Given the description of an element on the screen output the (x, y) to click on. 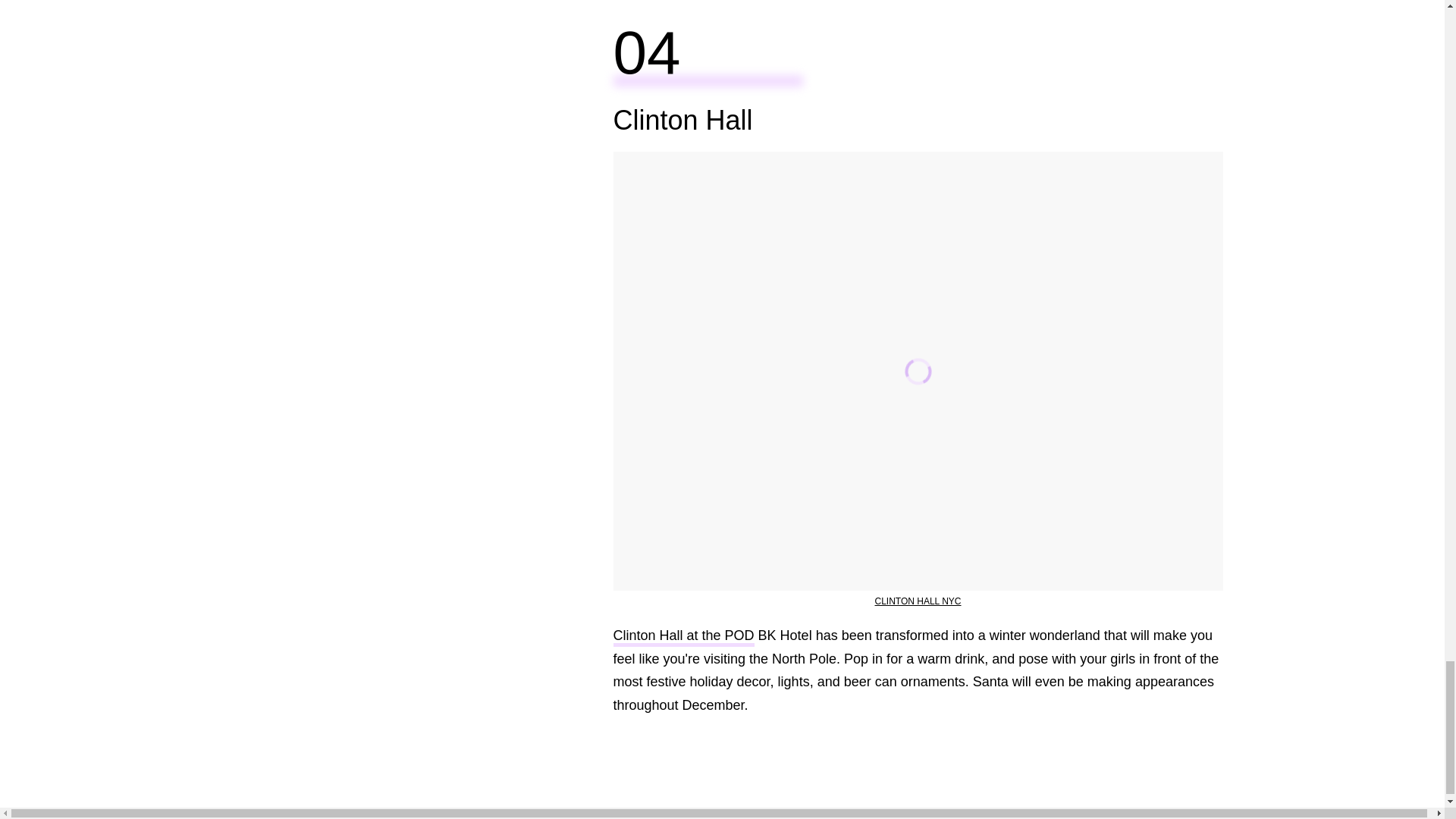
Clinton Hall at the POD (683, 637)
CLINTON HALL NYC (917, 601)
